Given the description of an element on the screen output the (x, y) to click on. 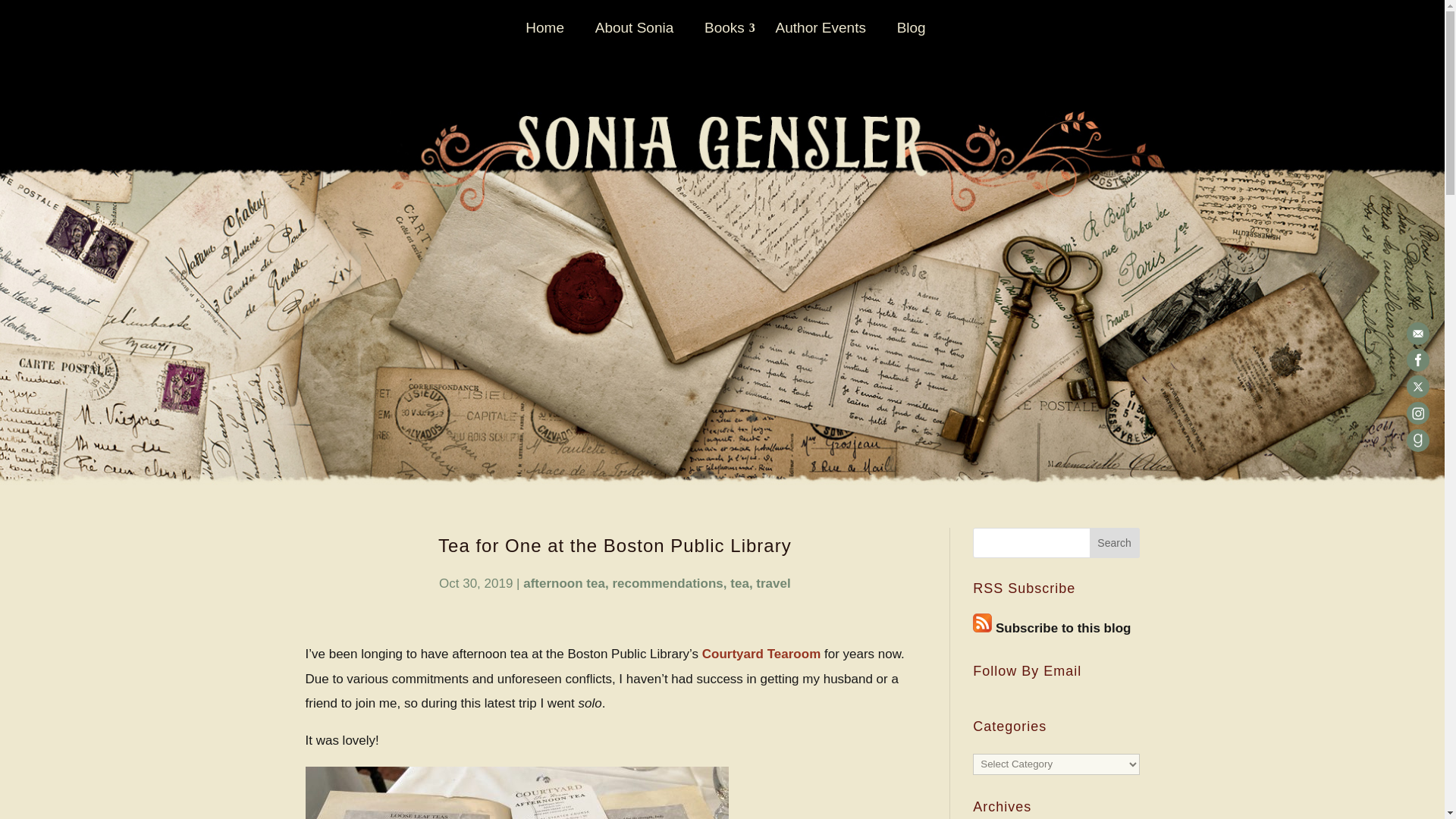
About Sonia (634, 37)
Search (1114, 542)
Courtyard Tearoom (761, 653)
travel (772, 583)
Books (724, 37)
Subscribe to this blog (1063, 627)
Search (1114, 542)
Author Events (820, 37)
recommendations (668, 583)
Home (544, 37)
afternoon tea (565, 583)
tea (741, 583)
Blog (911, 37)
